Given the description of an element on the screen output the (x, y) to click on. 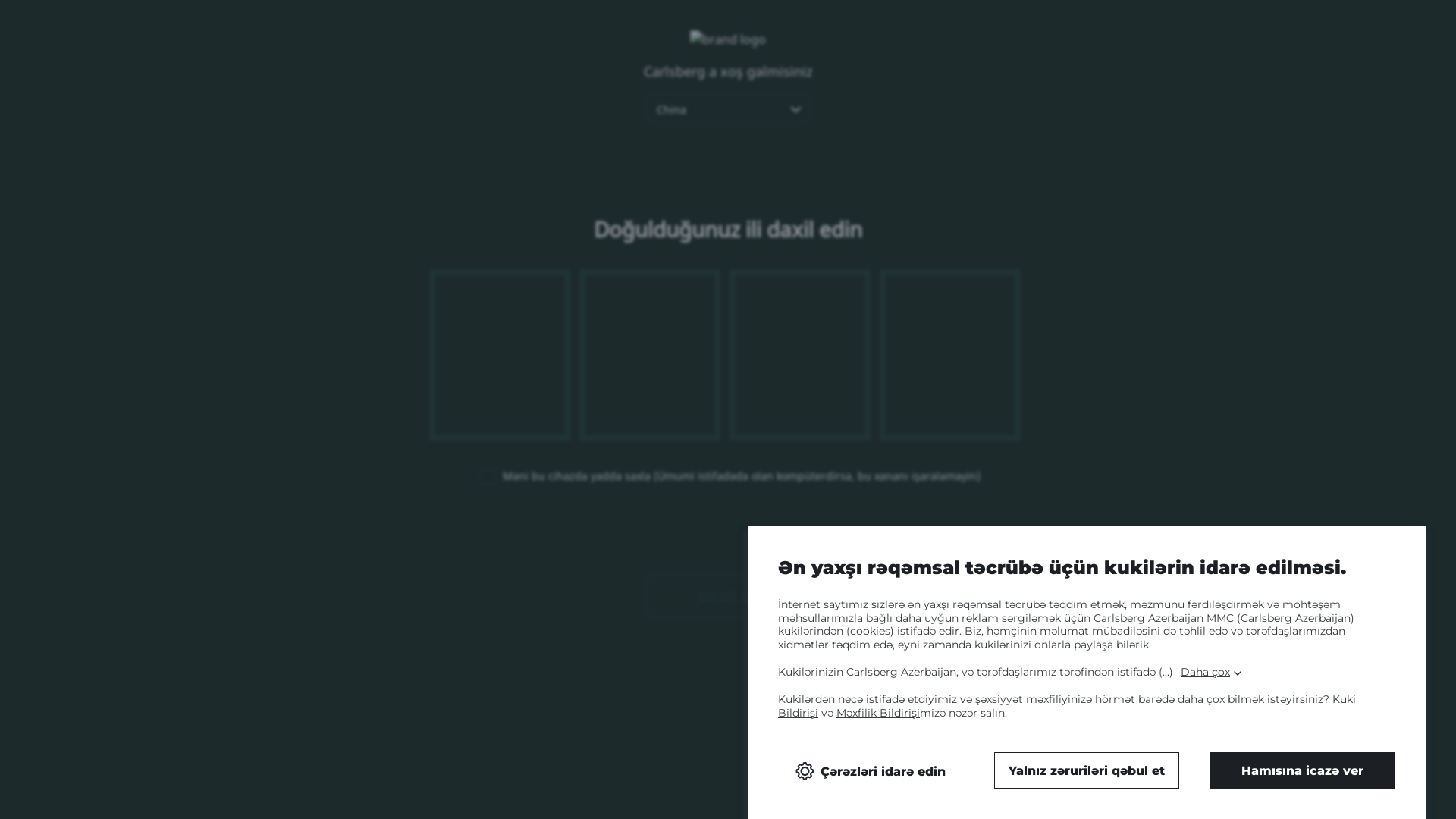
reception@carlsberg.az Element type: text (727, 704)
DAYANIQLILIQ Element type: text (1095, 48)
BIZ KIMIK Element type: text (804, 48)
Carlsberg Azerbaijan Element type: hover (233, 31)
China Element type: text (727, 108)
DAXIL ET Element type: text (727, 595)
